Given the description of an element on the screen output the (x, y) to click on. 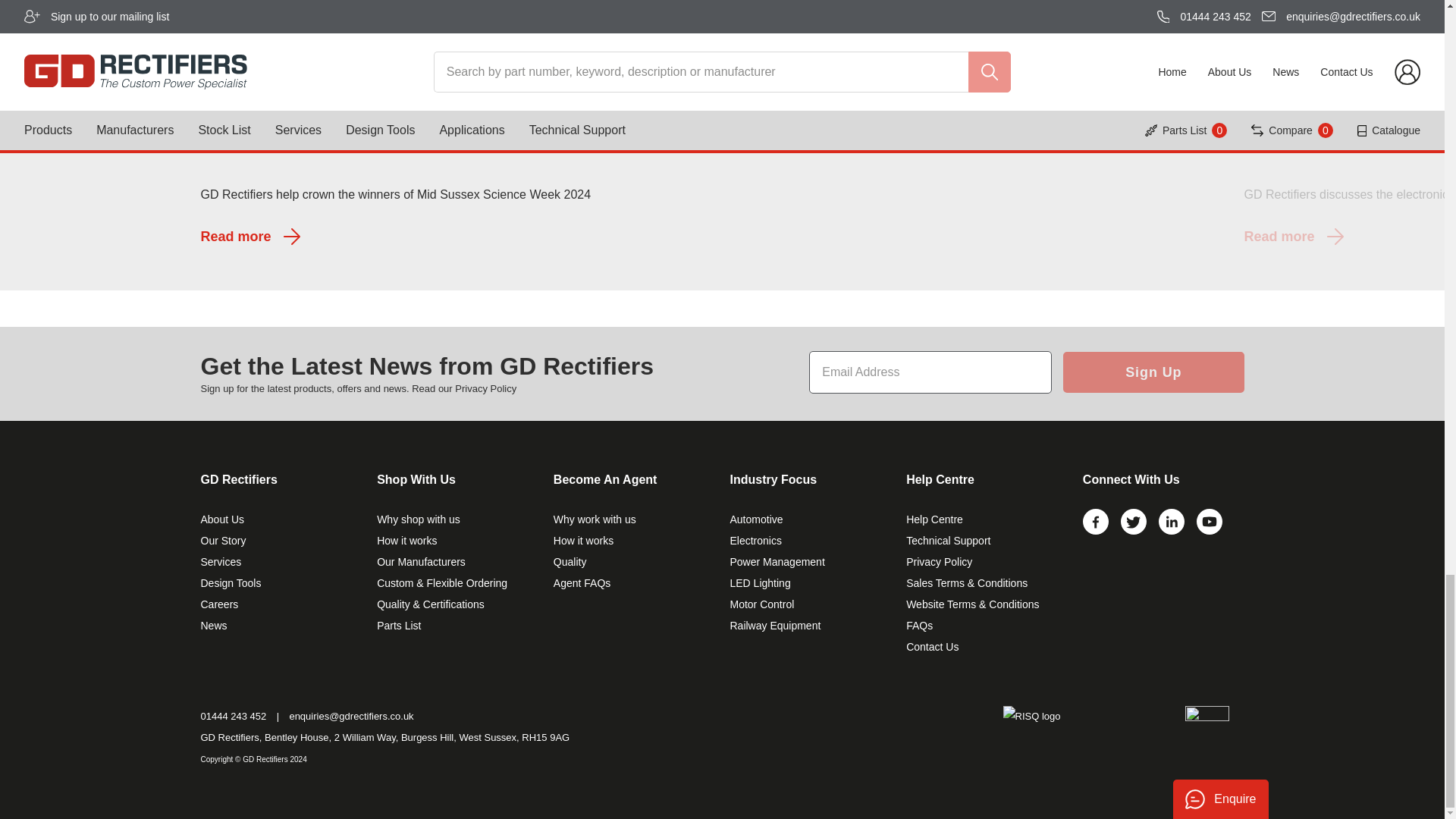
Sign Up (1152, 372)
